Given the description of an element on the screen output the (x, y) to click on. 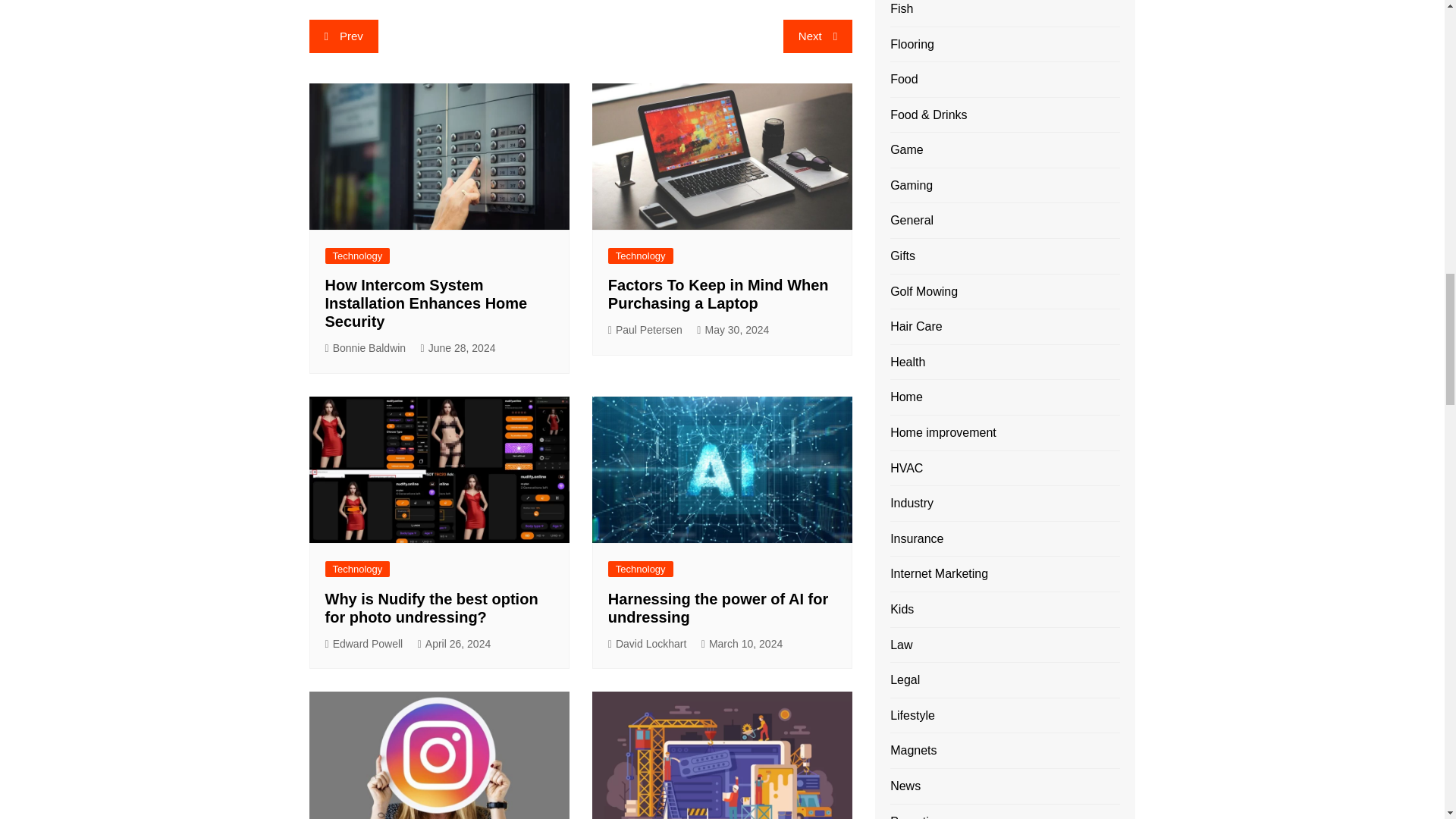
Prev (343, 36)
Technology (640, 255)
Technology (357, 255)
Paul Petersen (645, 330)
Next (817, 36)
June 28, 2024 (458, 348)
Bonnie Baldwin (365, 348)
April 26, 2024 (454, 643)
Edward Powell (363, 643)
How Intercom System Installation Enhances Home Security (425, 303)
May 30, 2024 (732, 330)
Why is Nudify the best option for photo undressing? (430, 607)
Factors To Keep in Mind When Purchasing a Laptop (718, 294)
Technology (357, 569)
